Given the description of an element on the screen output the (x, y) to click on. 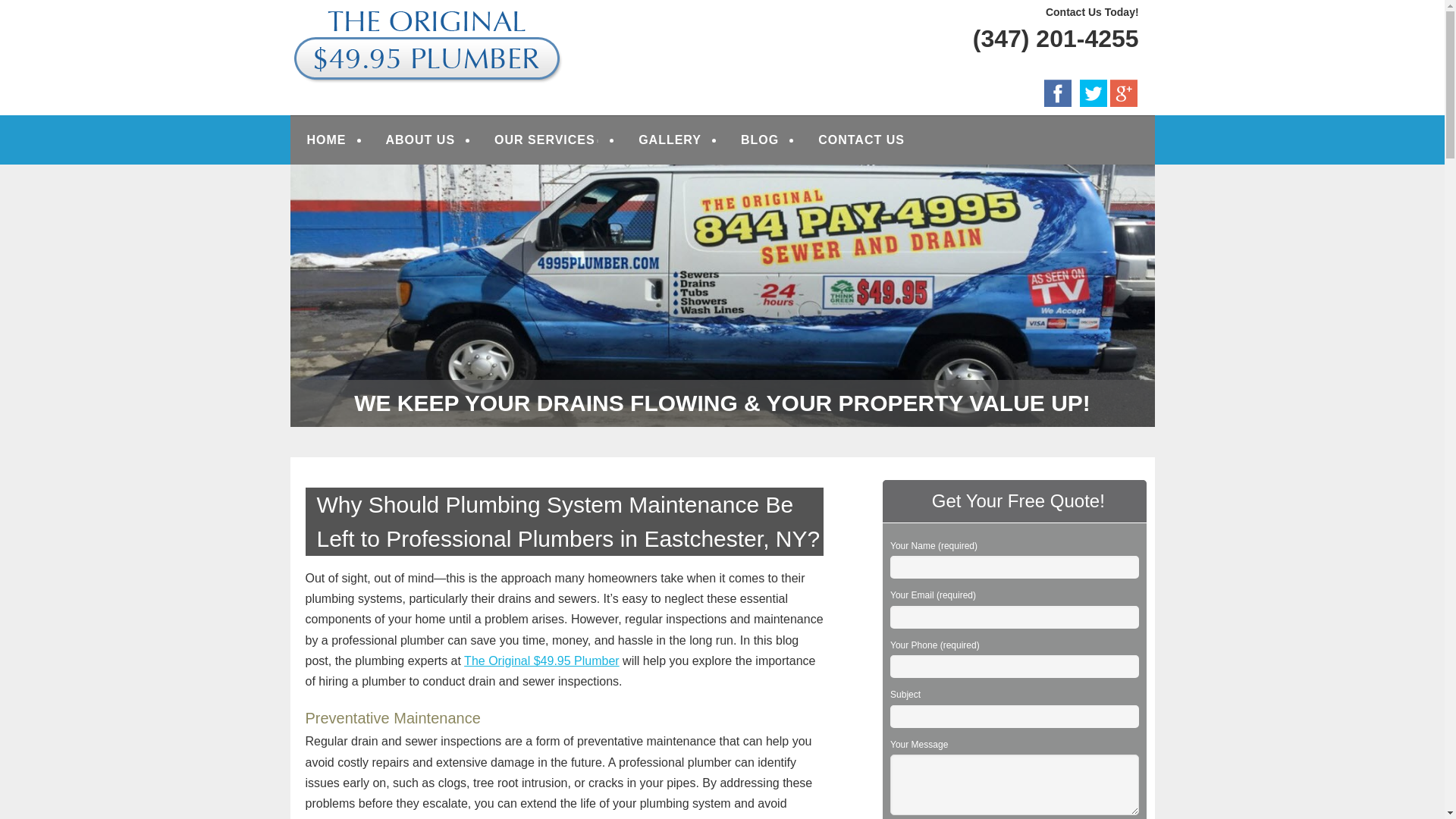
HOME (325, 140)
GALLERY (669, 140)
BLOG (759, 140)
ABOUT US (420, 140)
OUR SERVICES (546, 140)
CONTACT US (861, 140)
